Given the description of an element on the screen output the (x, y) to click on. 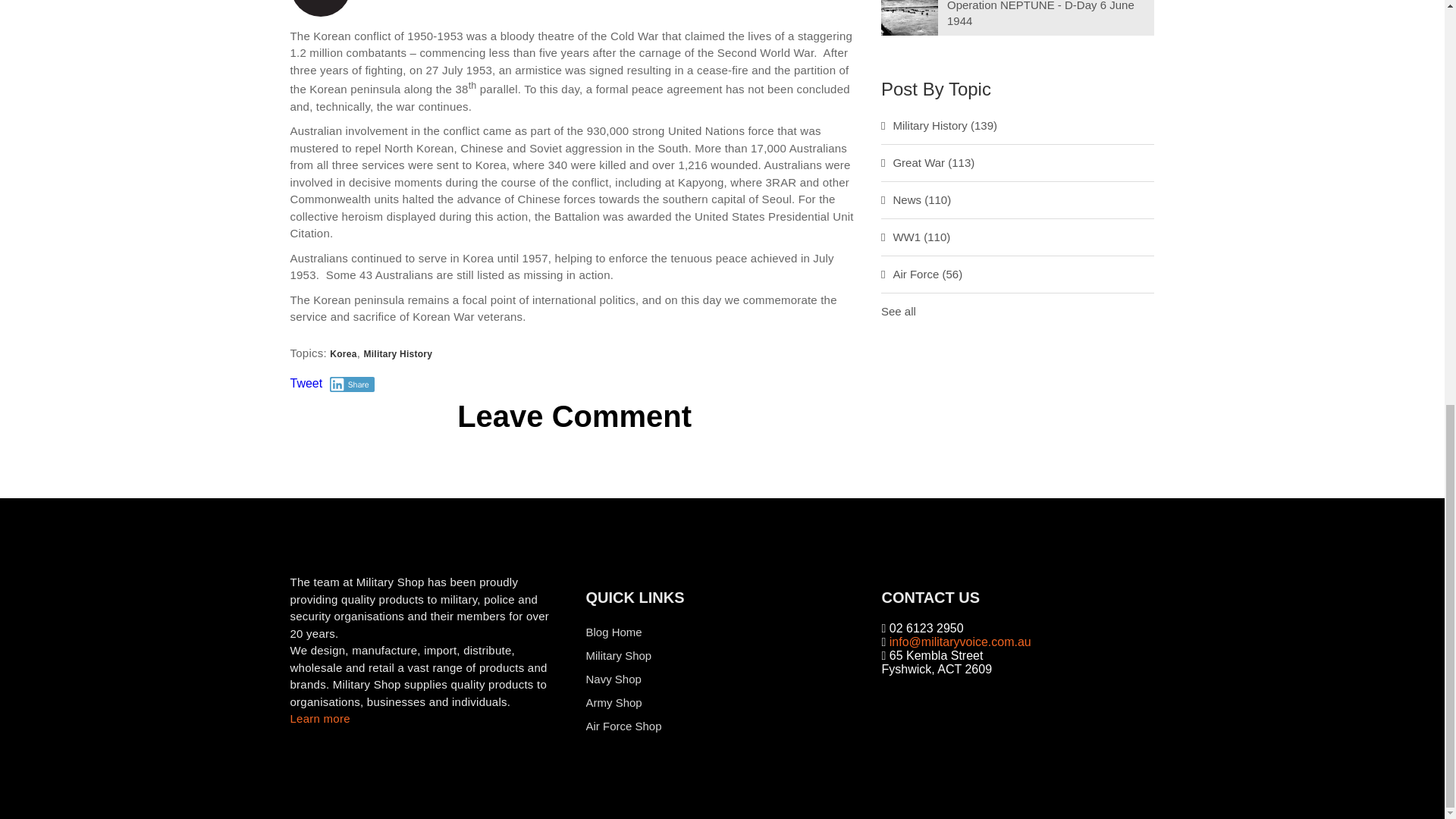
Korea (343, 353)
Operation NEPTUNE - D-Day 6 June 1944 (1040, 13)
Share (352, 384)
Tweet (305, 382)
Military History (397, 353)
